Given the description of an element on the screen output the (x, y) to click on. 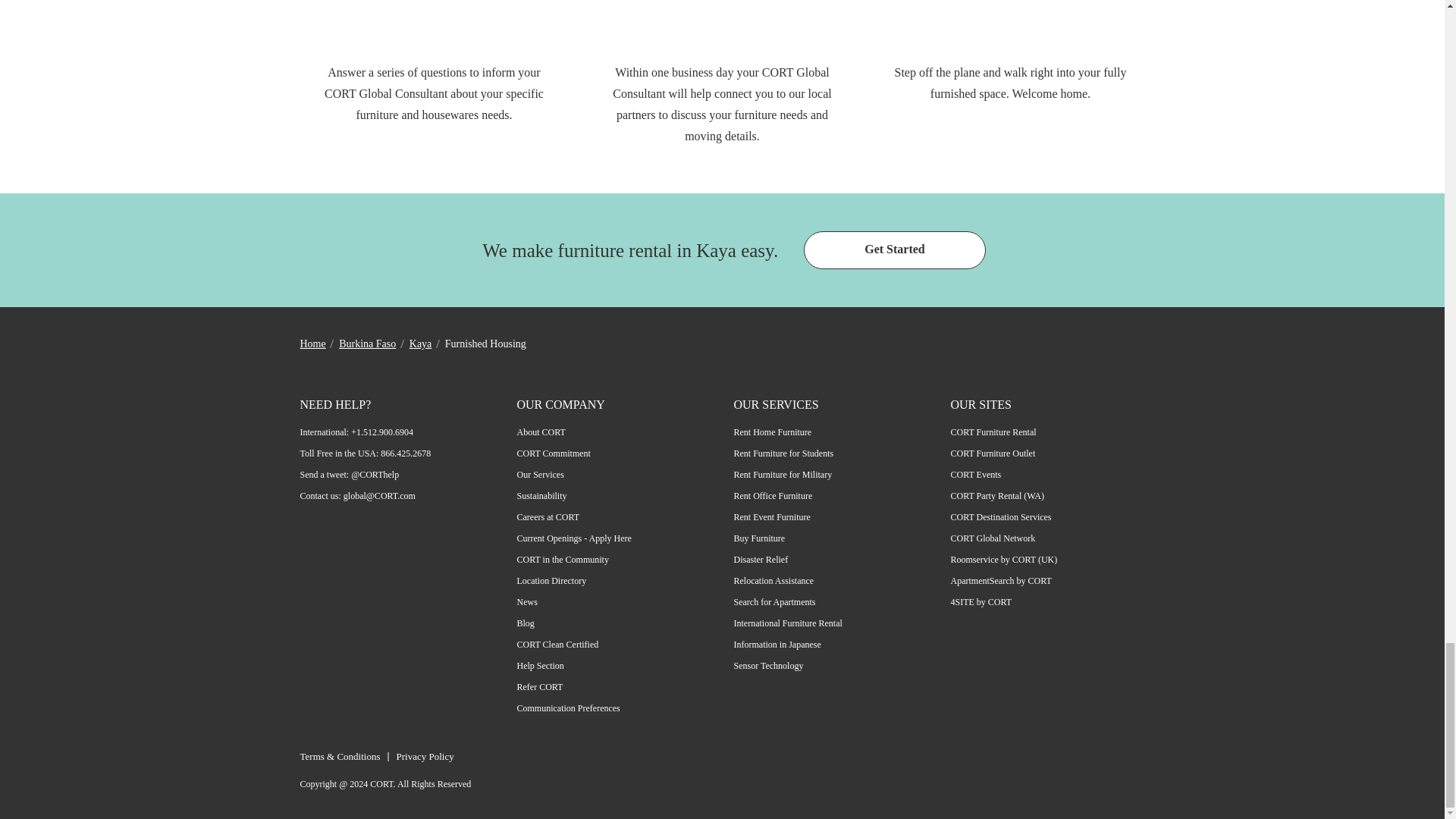
About CORT (541, 431)
Get Started (894, 249)
Sustainability (541, 495)
Home (312, 343)
Our Services (540, 474)
Toll Free in the USA: 866.425.2678 (364, 452)
Kaya (420, 343)
